Given the description of an element on the screen output the (x, y) to click on. 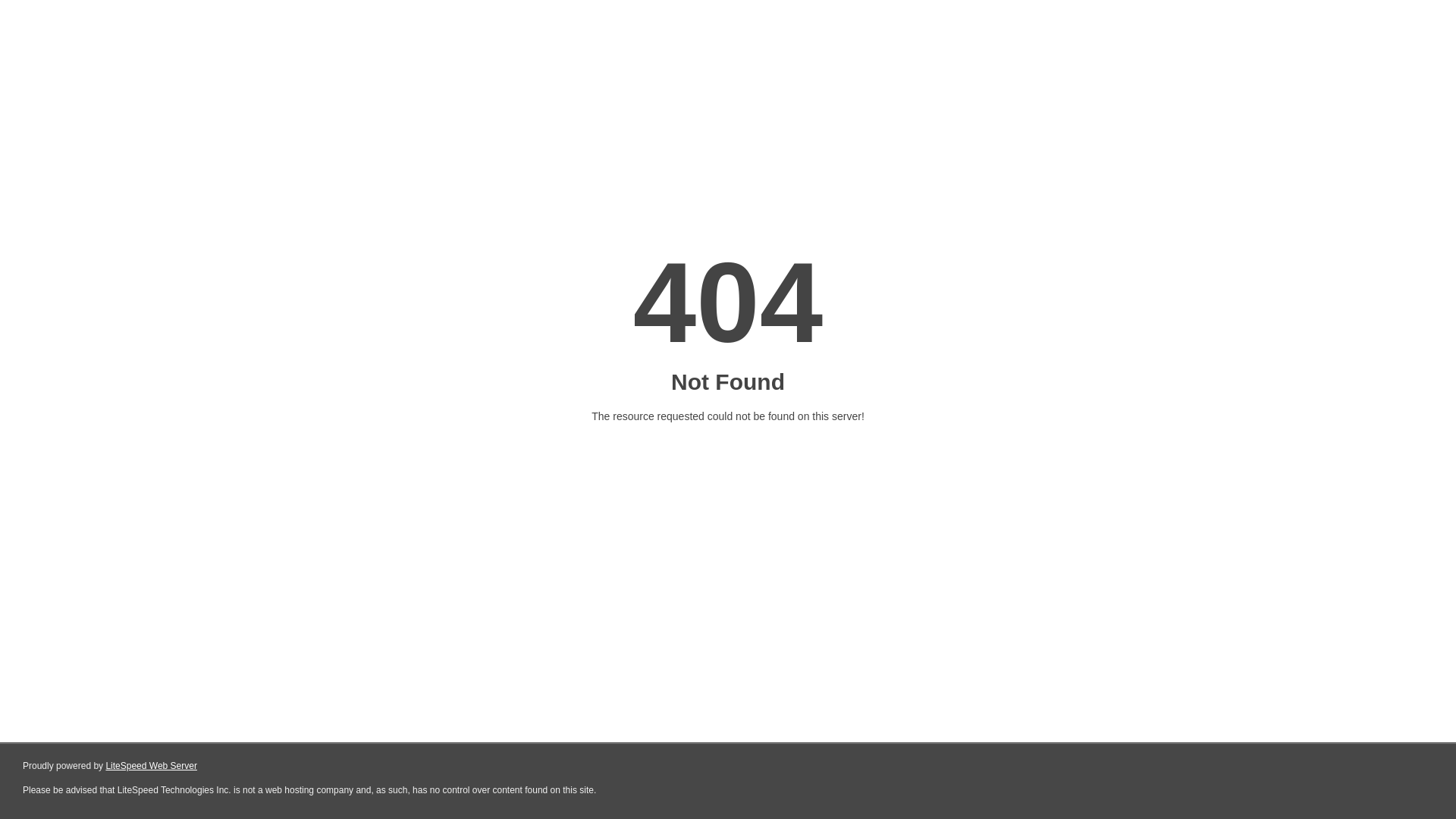
LiteSpeed Web Server Element type: text (151, 765)
